Given the description of an element on the screen output the (x, y) to click on. 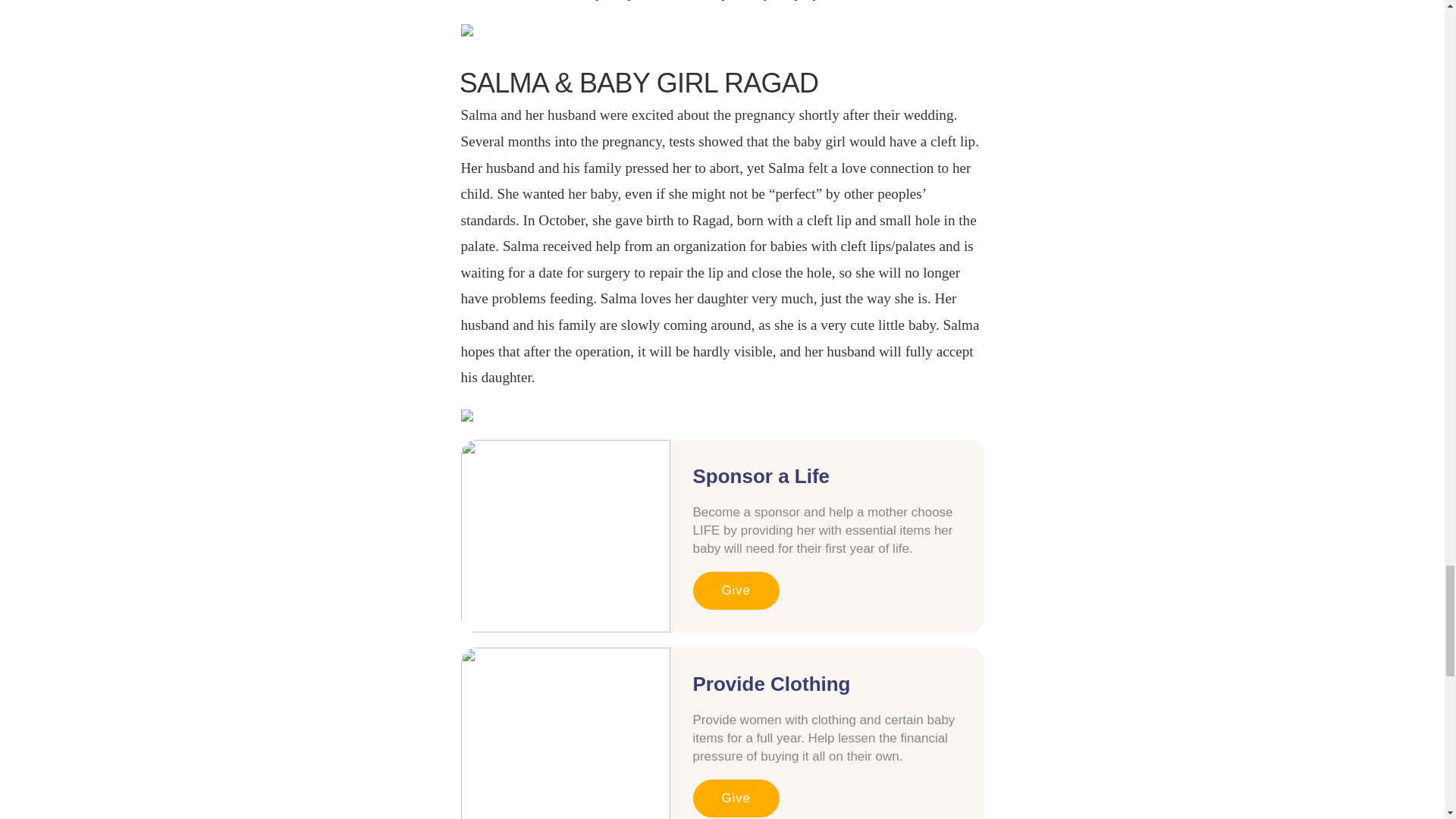
Provide Clothing (771, 684)
Sponsor a Life (761, 476)
Give (735, 798)
Give (735, 590)
